Given the description of an element on the screen output the (x, y) to click on. 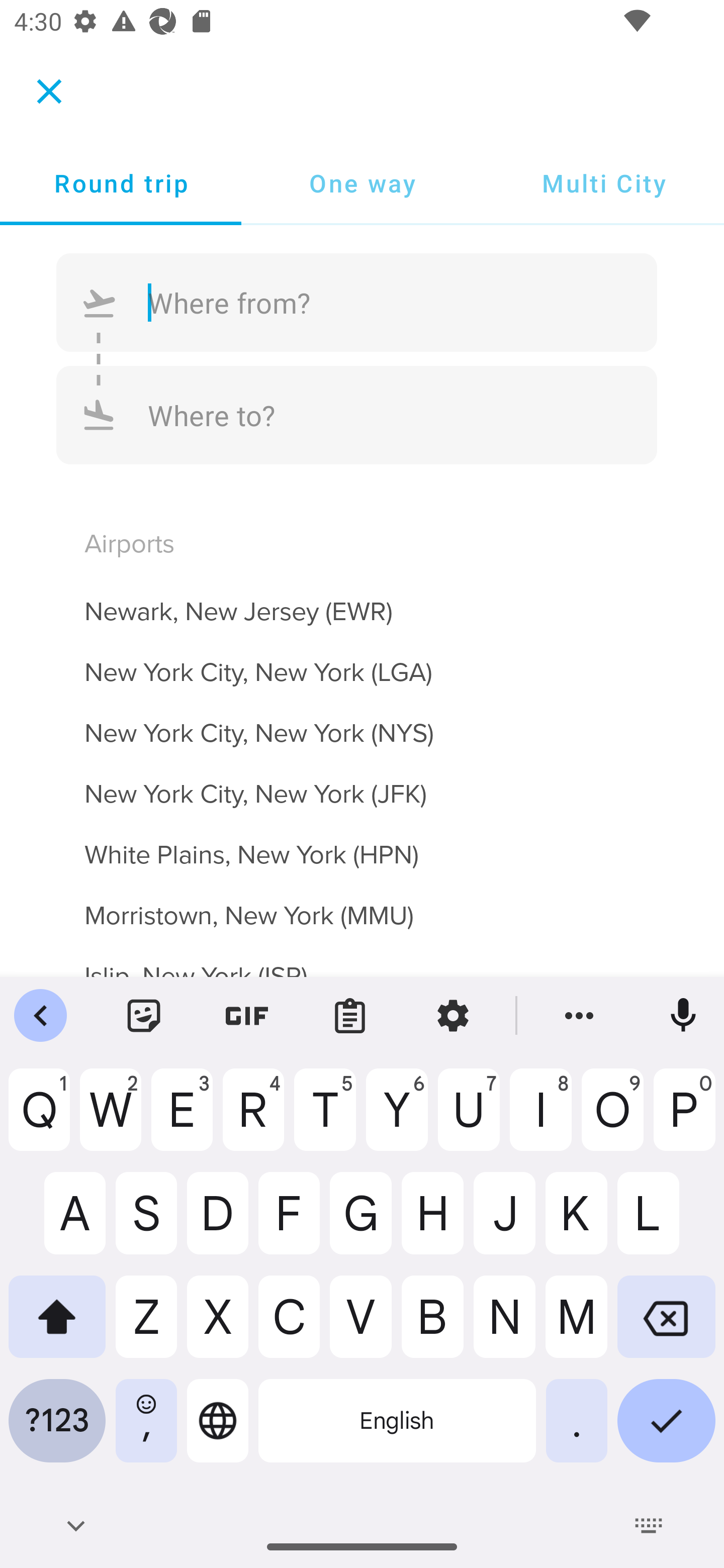
Cancel (49, 90)
One way (361, 183)
Multi City (603, 183)
Where from? (356, 302)
Where to? (356, 414)
Newark, New Jersey (EWR) (361, 599)
New York City, New York (LGA) (361, 660)
New York City, New York (NYS) (361, 721)
New York City, New York (JFK) (361, 782)
White Plains, New York (HPN) (361, 843)
Morristown, New York (MMU) (361, 903)
